Given the description of an element on the screen output the (x, y) to click on. 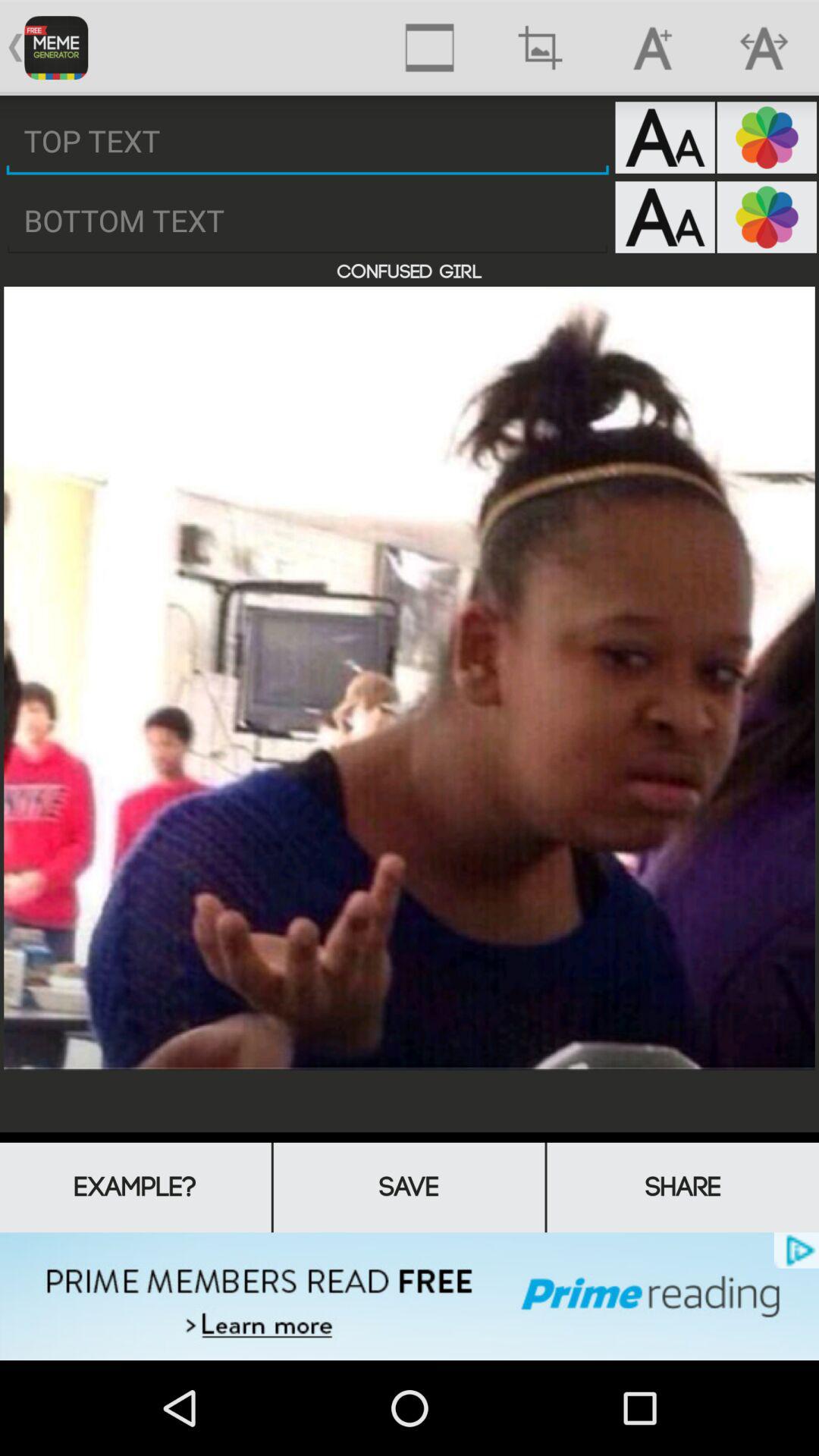
colours (766, 137)
